Given the description of an element on the screen output the (x, y) to click on. 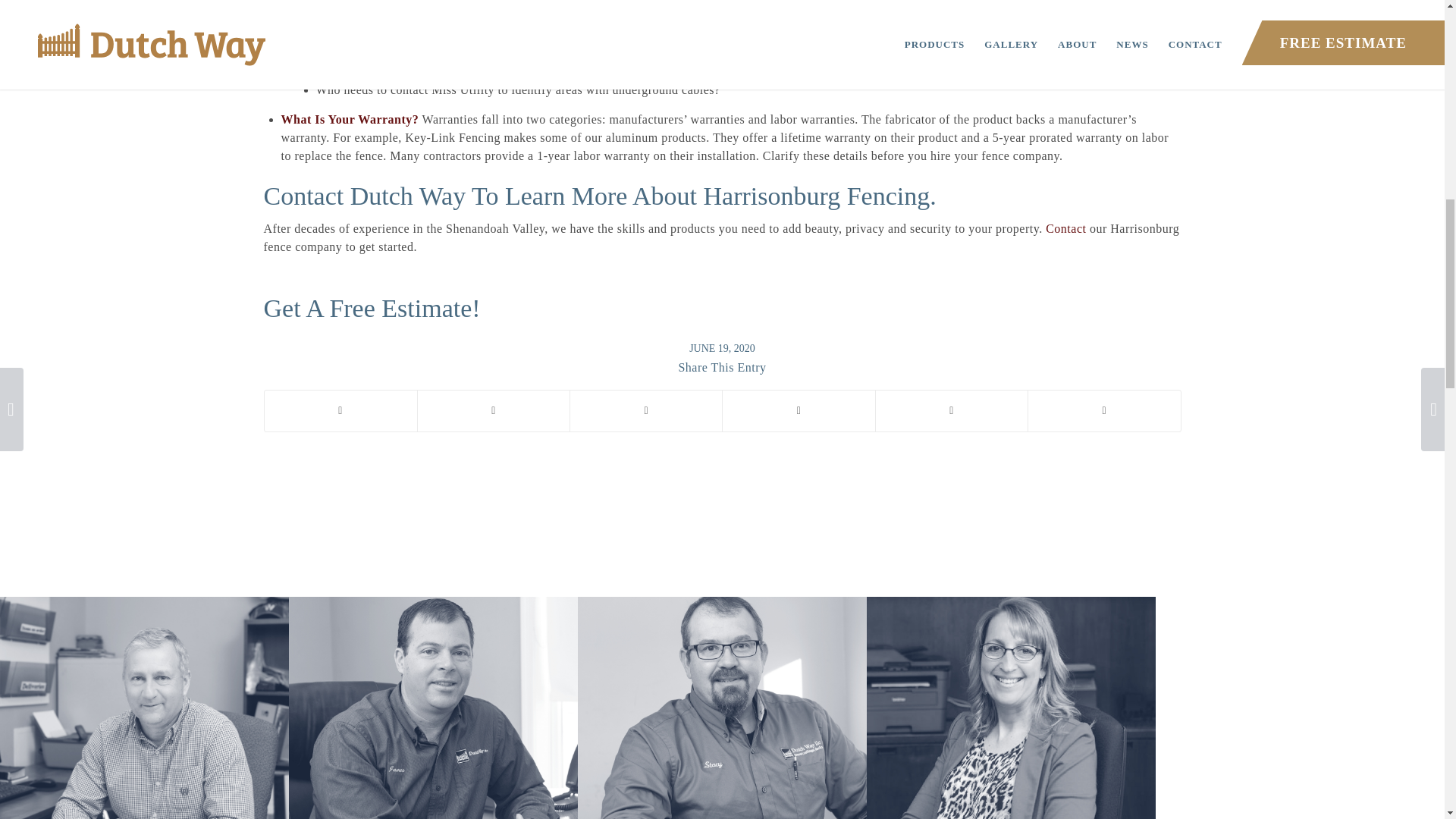
Get A Free Estimate! (371, 308)
Contact (1065, 228)
